Given the description of an element on the screen output the (x, y) to click on. 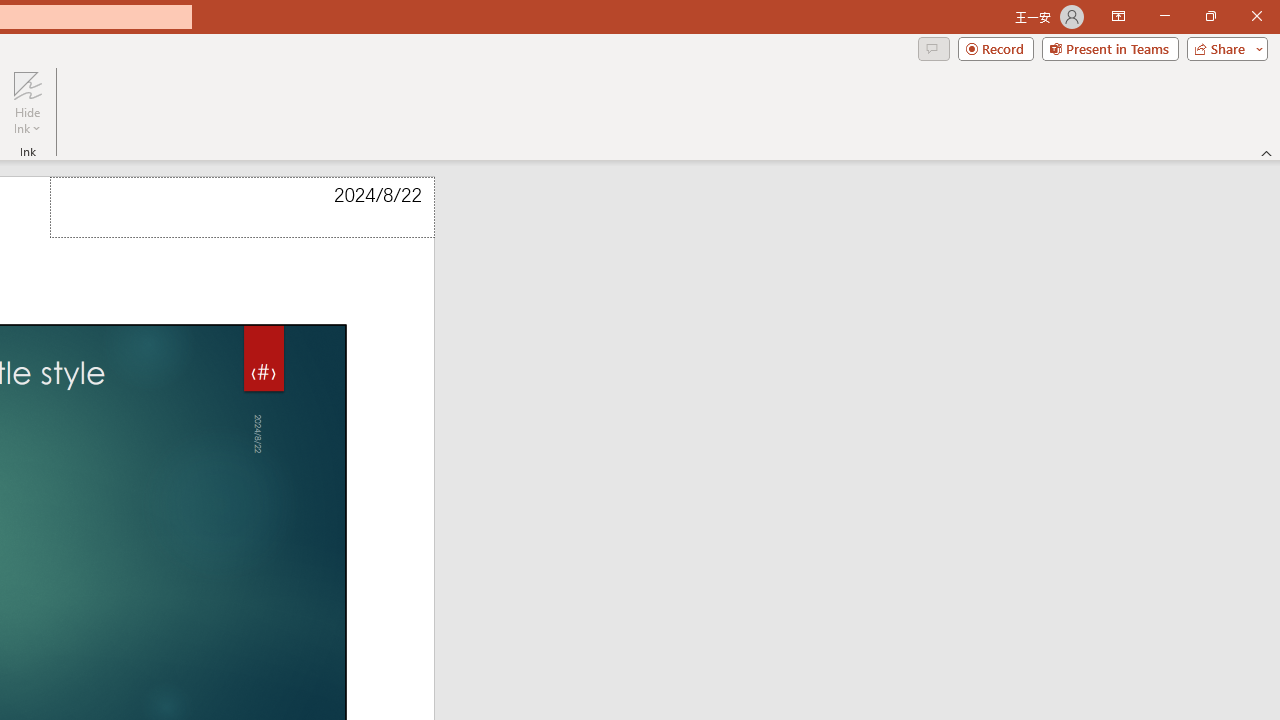
Date (242, 207)
